Given the description of an element on the screen output the (x, y) to click on. 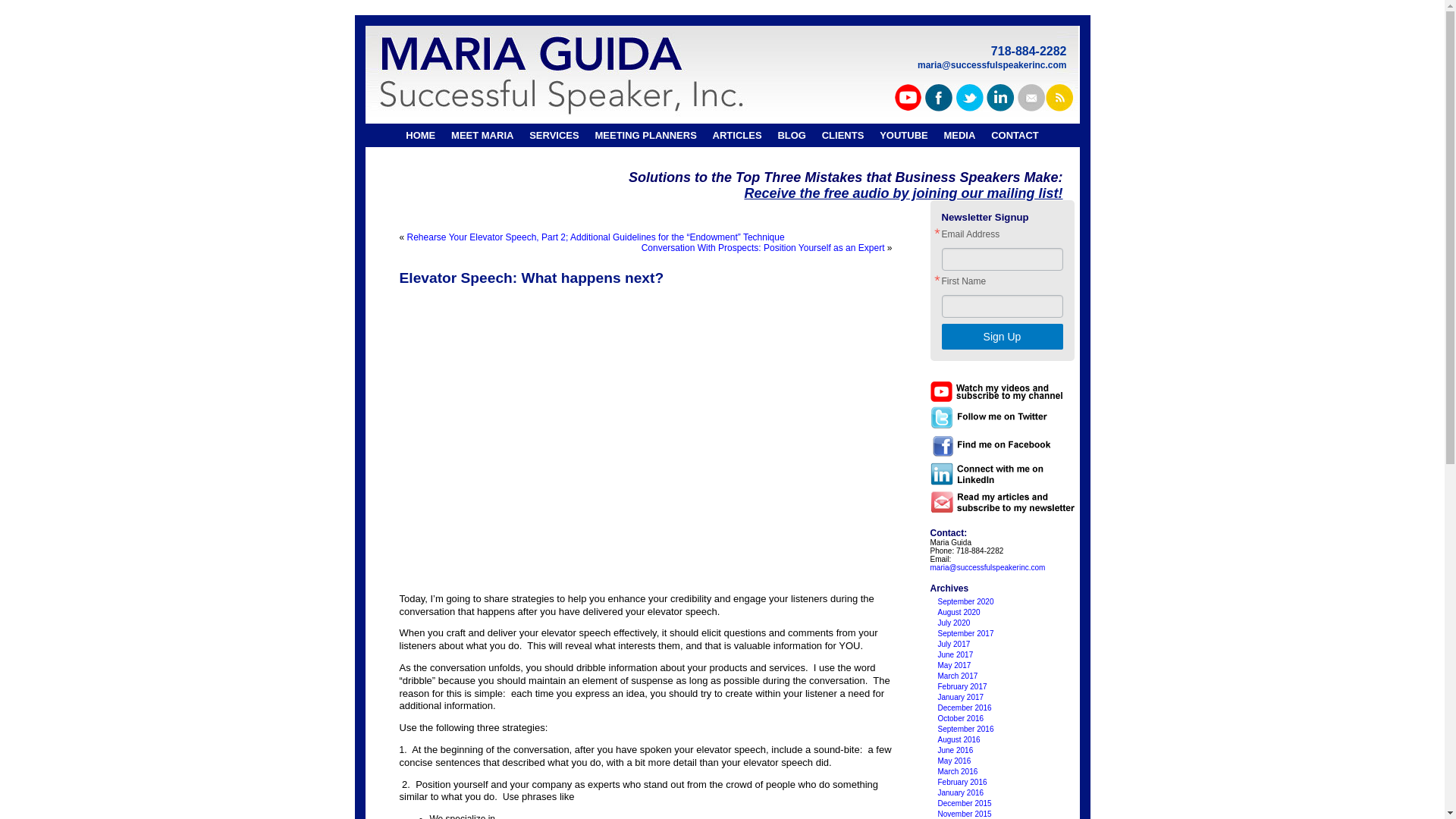
BLOG (791, 134)
rss (1060, 97)
MEETING PLANNERS (645, 134)
youtube (908, 97)
ARTICLES (737, 134)
Receive the free audio by joining our mailing list! (903, 192)
HOME (420, 134)
Elevator Speech: What happens next? (530, 277)
linkedin (999, 97)
SERVICES (554, 134)
twitter (968, 97)
September 2020 (964, 601)
MEDIA (958, 134)
email (1029, 97)
CONTACT (1014, 134)
